Given the description of an element on the screen output the (x, y) to click on. 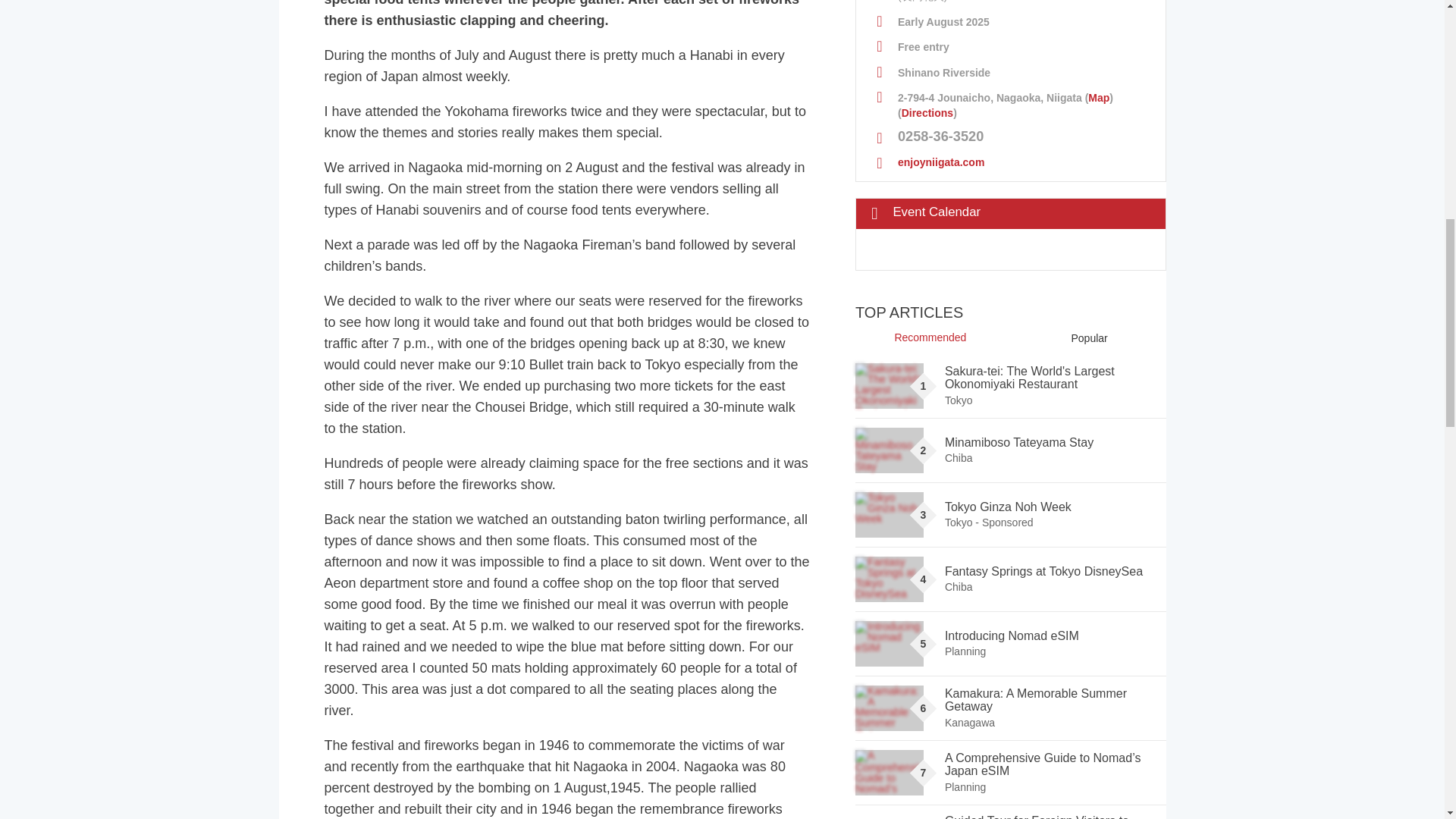
Fantasy Springs at Tokyo DisneySea (889, 578)
Tokyo Ginza Noh Week (889, 514)
Sakura-tei: The World's Largest Okonomiyaki Restaurant (889, 385)
Address (1011, 100)
Phone number (1011, 133)
Kamakura: A Memorable Summer Getaway (889, 708)
Minamiboso Tateyama Stay (889, 450)
Introducing Nomad eSIM (889, 643)
